Given the description of an element on the screen output the (x, y) to click on. 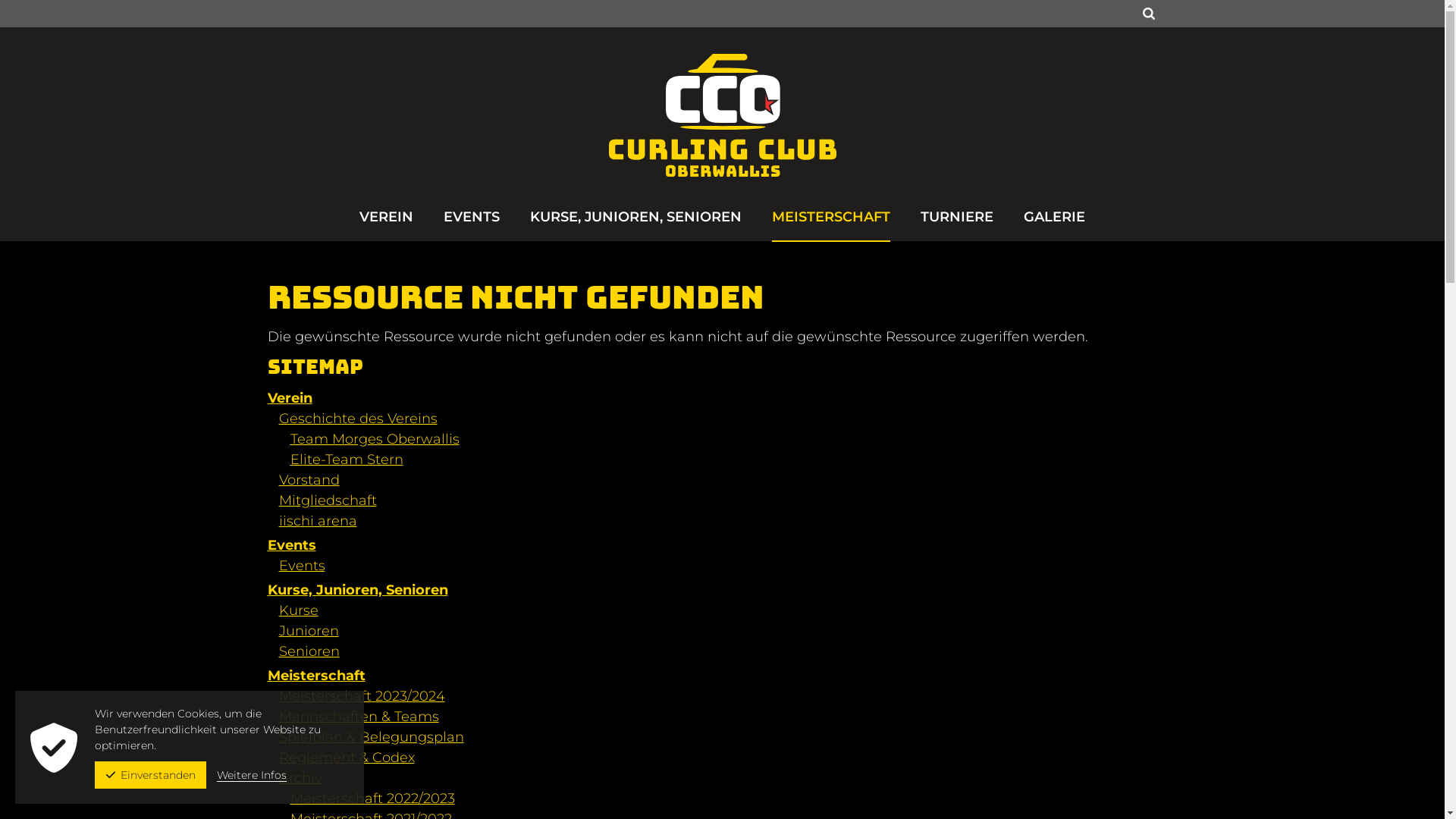
Elite-Team Stern Element type: text (345, 459)
Team Morges Oberwallis Element type: text (373, 438)
VEREIN Element type: text (386, 224)
Reglement & Codex Element type: text (346, 757)
Senioren Element type: text (309, 651)
Geschichte des Vereins Element type: text (358, 418)
GALERIE Element type: text (1054, 224)
MEISTERSCHAFT Element type: text (830, 224)
Vorstand Element type: text (309, 479)
Meisterschaft Element type: text (315, 675)
Weitere Infos Element type: text (251, 775)
Suche Element type: text (1146, 14)
Mitgliedschaft Element type: text (327, 500)
Kurse, Junioren, Senioren Element type: text (356, 589)
Kurse Element type: text (298, 610)
Einverstanden Element type: text (150, 774)
Meisterschaft 2023/2024 Element type: text (362, 695)
Meisterschaft 2022/2023 Element type: text (371, 798)
Junioren Element type: text (308, 630)
Archiv Element type: text (300, 777)
Verein Element type: text (288, 397)
KURSE, JUNIOREN, SENIOREN Element type: text (635, 224)
Mannschaften & Teams Element type: text (359, 716)
Events Element type: text (302, 565)
Events Element type: text (290, 544)
iischi arena Element type: text (318, 520)
Spielplan & Belegungsplan Element type: text (371, 736)
EVENTS Element type: text (471, 224)
TURNIERE Element type: text (956, 224)
